Given the description of an element on the screen output the (x, y) to click on. 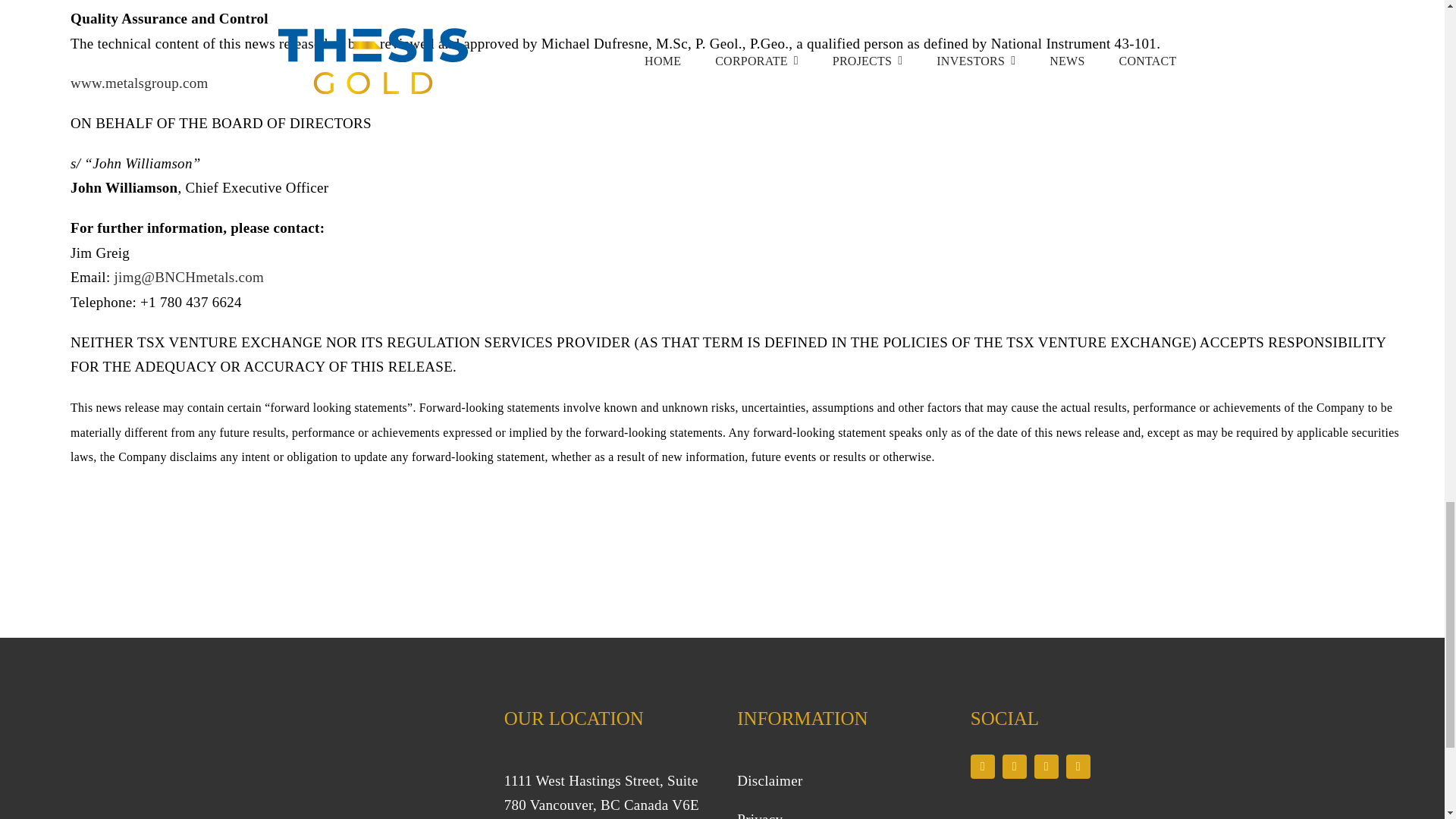
www.metalsgroup.com (138, 82)
Page 16 (601, 794)
Disclaimer (769, 780)
Page 16 (834, 794)
